Given the description of an element on the screen output the (x, y) to click on. 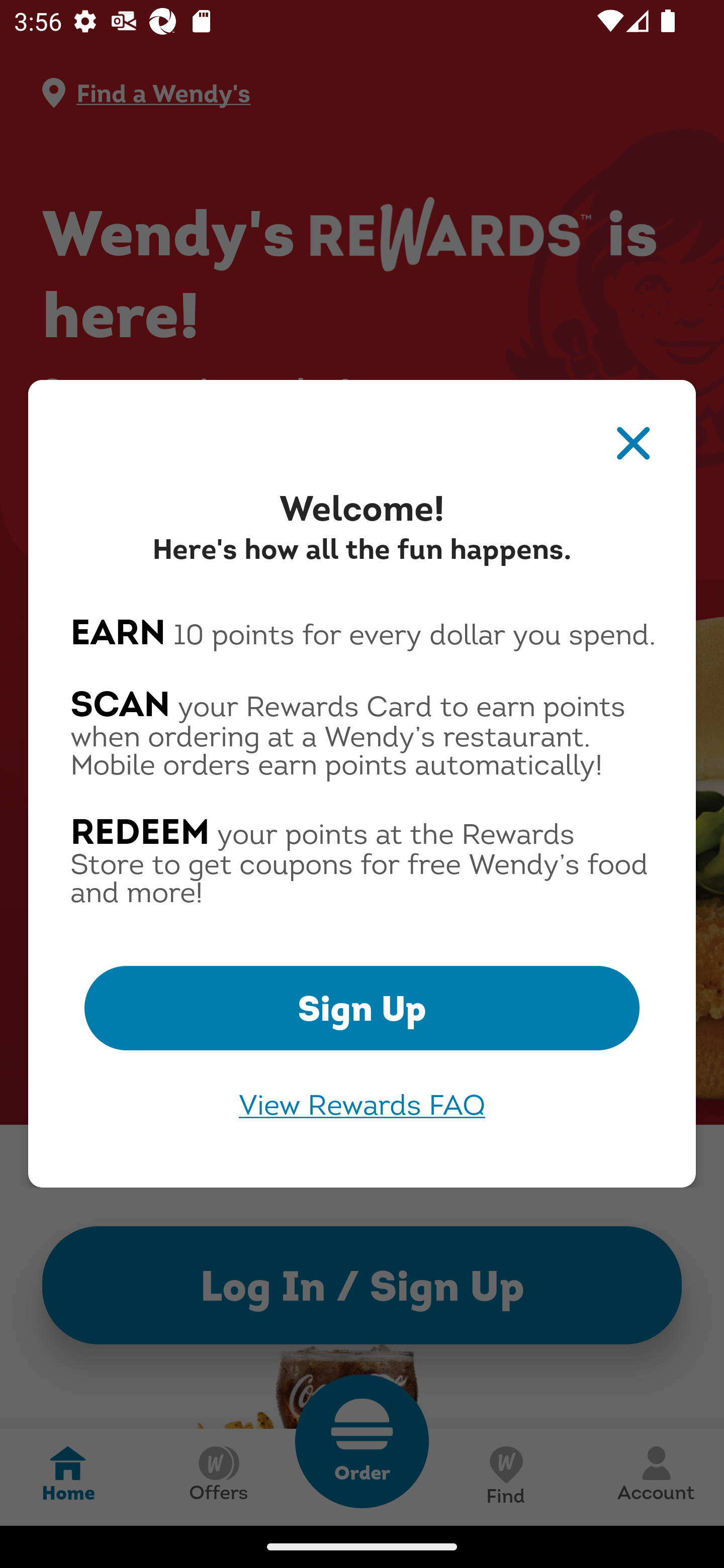
Sign Up (361, 1007)
View Rewards FAQ View Rewards FAQ Link (361, 1104)
